Given the description of an element on the screen output the (x, y) to click on. 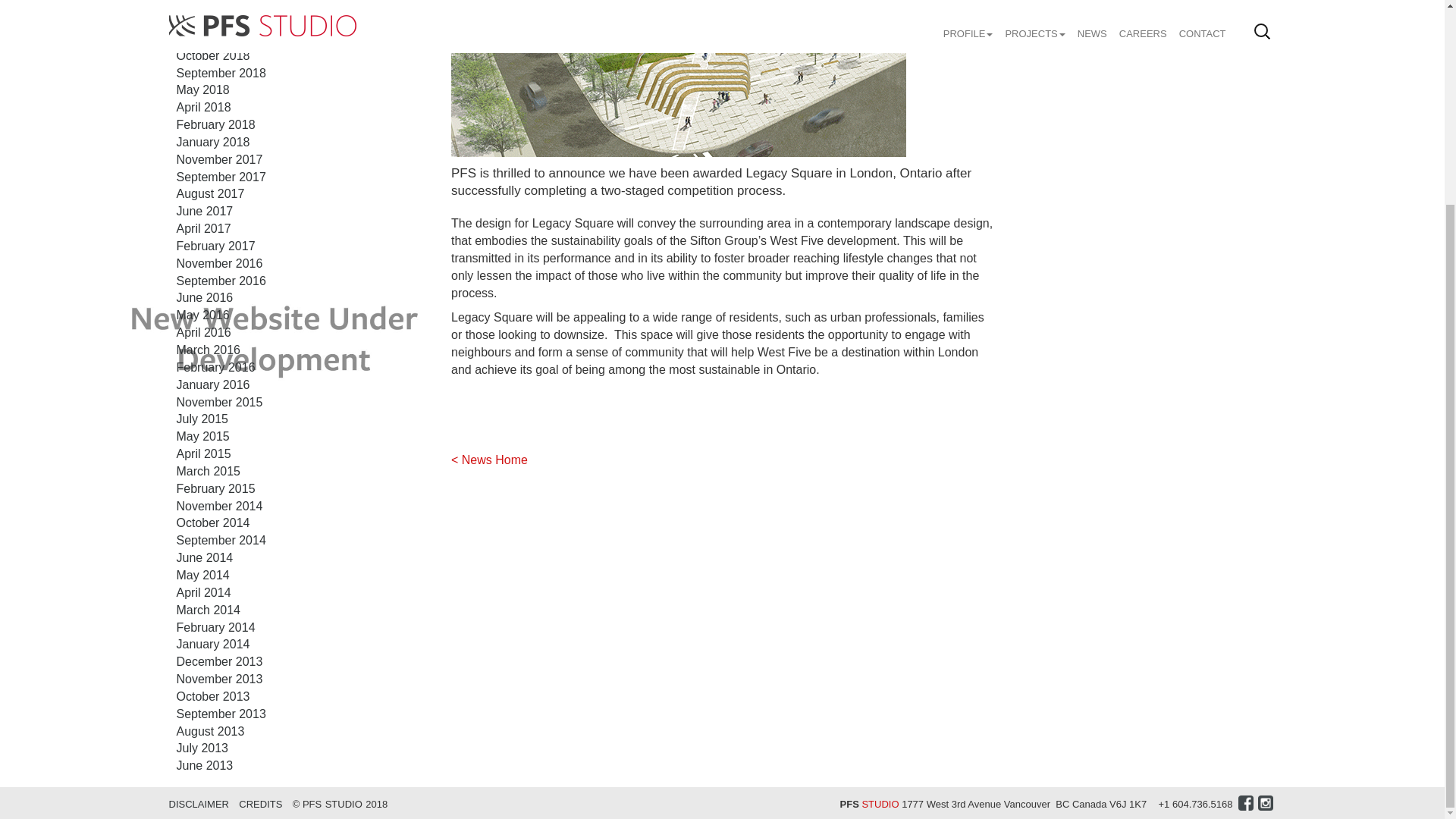
November 2017 (219, 159)
June 2017 (204, 210)
August 2017 (210, 193)
April 2018 (203, 106)
January 2019 (212, 4)
May 2018 (202, 89)
September 2016 (220, 280)
September 2017 (220, 176)
January 2018 (212, 141)
June 2016 (204, 297)
February 2017 (215, 245)
April 2016 (203, 332)
April 2017 (203, 228)
September 2018 (220, 72)
November 2016 (219, 263)
